Given the description of an element on the screen output the (x, y) to click on. 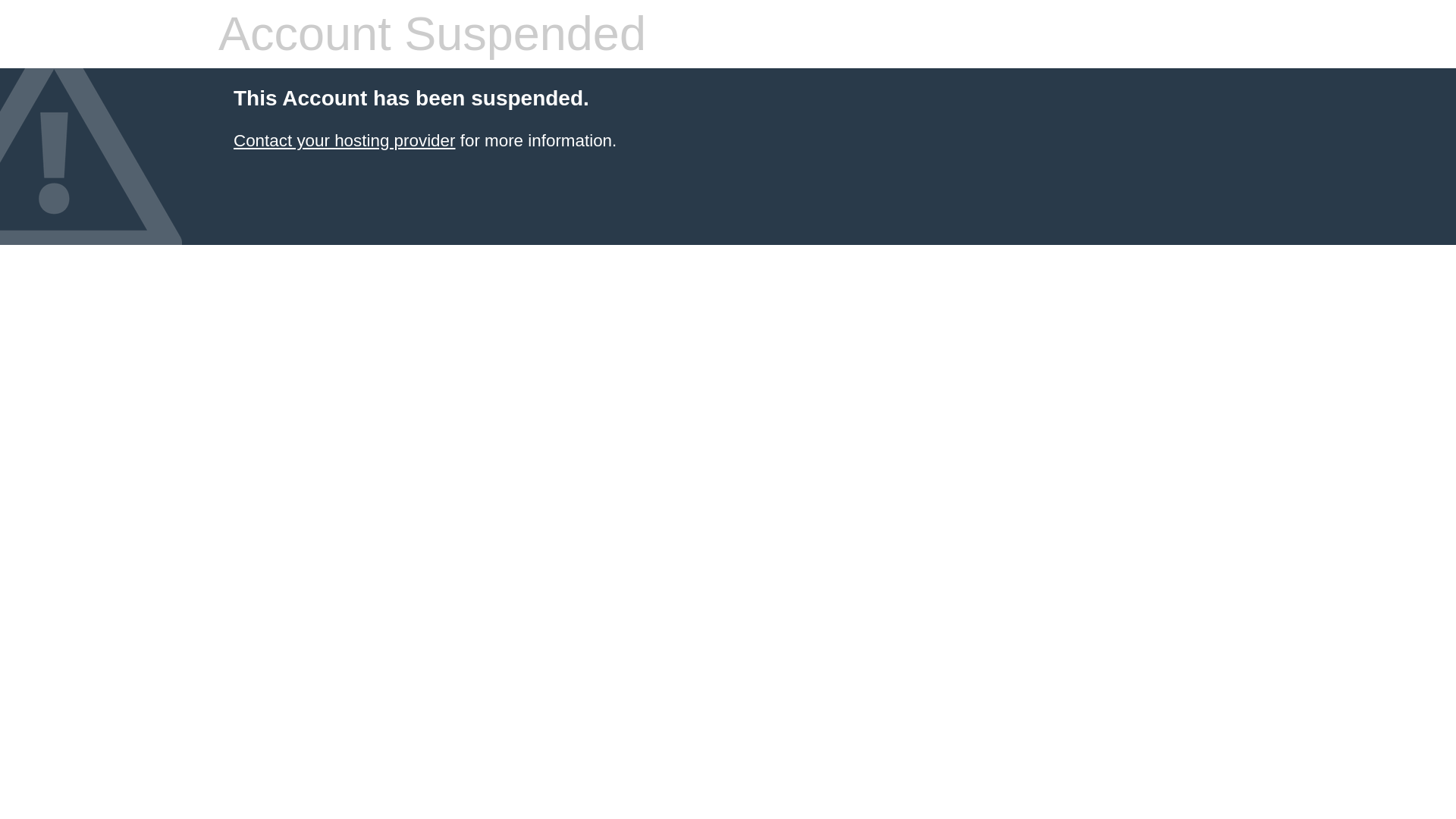
Contact your hosting provider (343, 140)
